Given the description of an element on the screen output the (x, y) to click on. 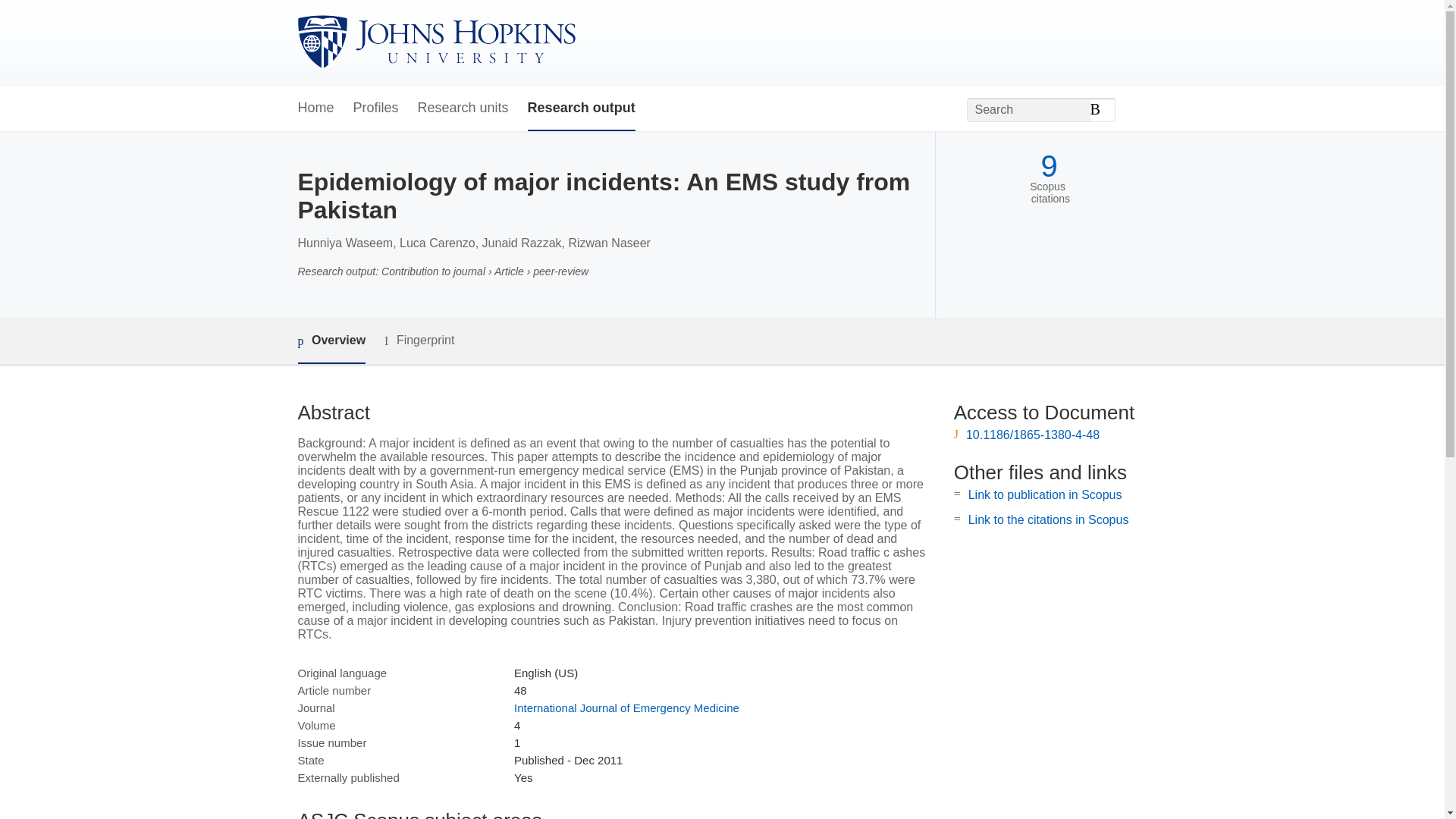
Link to publication in Scopus (1045, 494)
Link to the citations in Scopus (1048, 519)
Fingerprint (419, 340)
Research units (462, 108)
Profiles (375, 108)
International Journal of Emergency Medicine (626, 707)
Johns Hopkins University Home (436, 43)
Research output (580, 108)
Overview (331, 341)
